Given the description of an element on the screen output the (x, y) to click on. 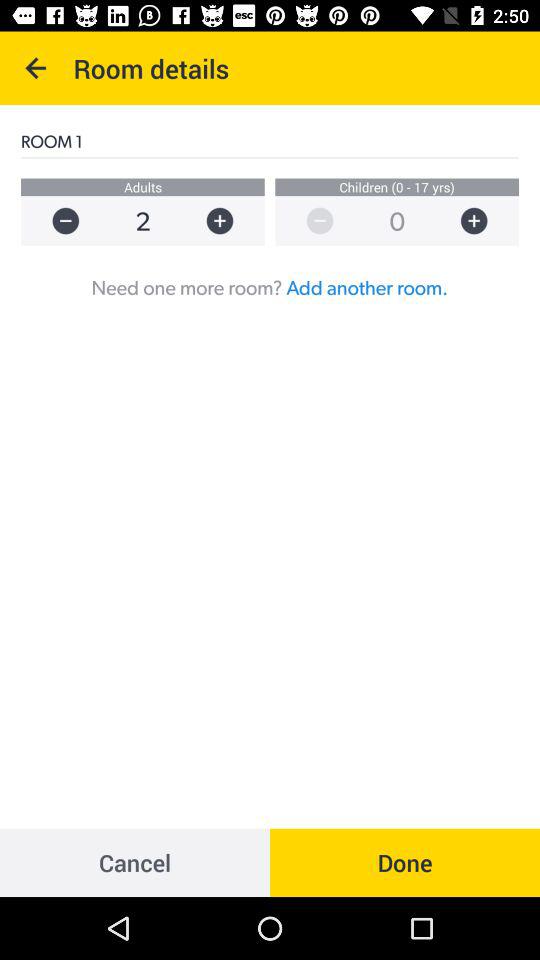
reduce amount of adullts (55, 220)
